Given the description of an element on the screen output the (x, y) to click on. 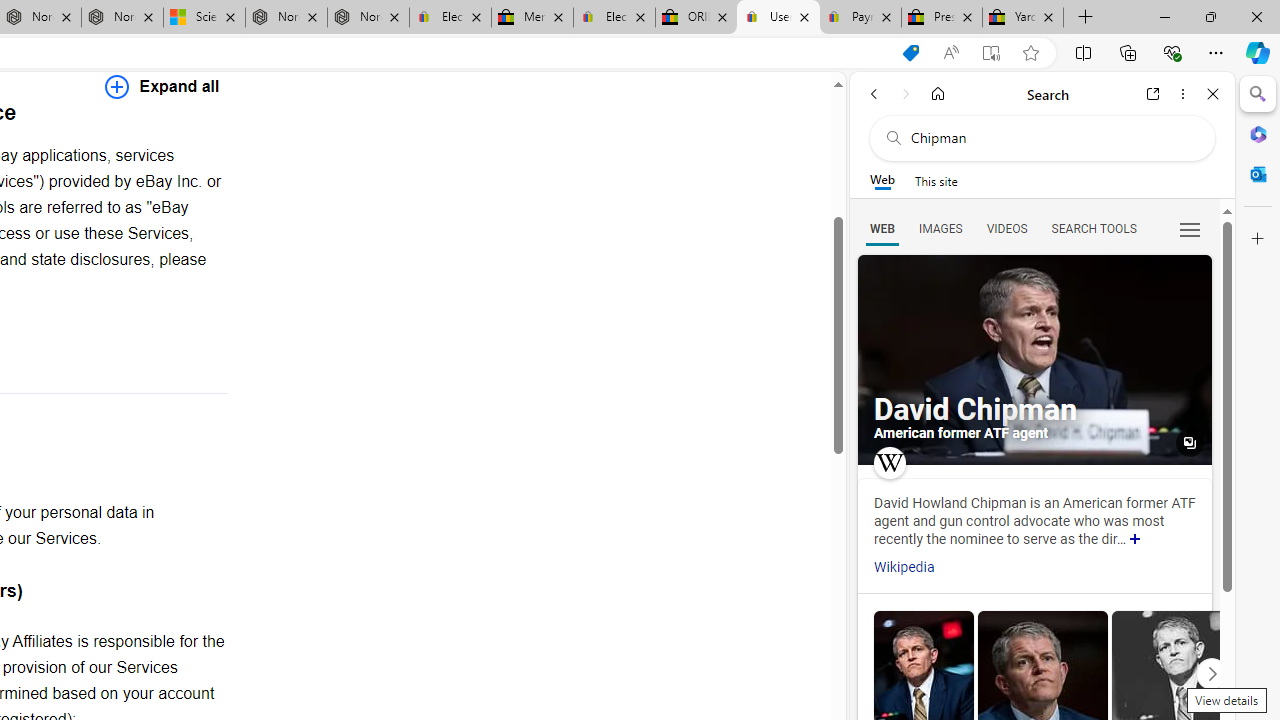
Expand all (162, 86)
